Given the description of an element on the screen output the (x, y) to click on. 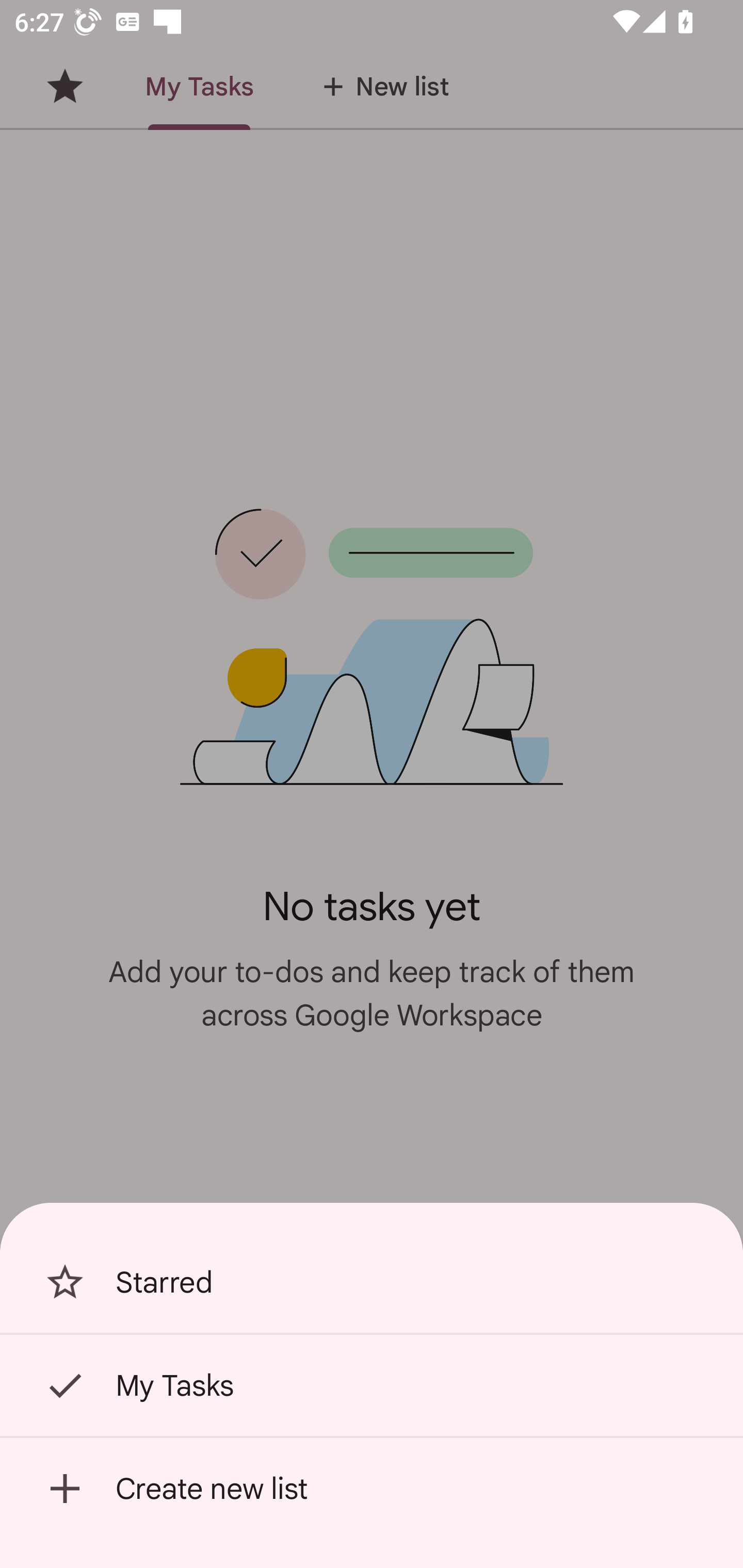
Starred (371, 1282)
My Tasks (371, 1385)
Create new list (371, 1488)
